Given the description of an element on the screen output the (x, y) to click on. 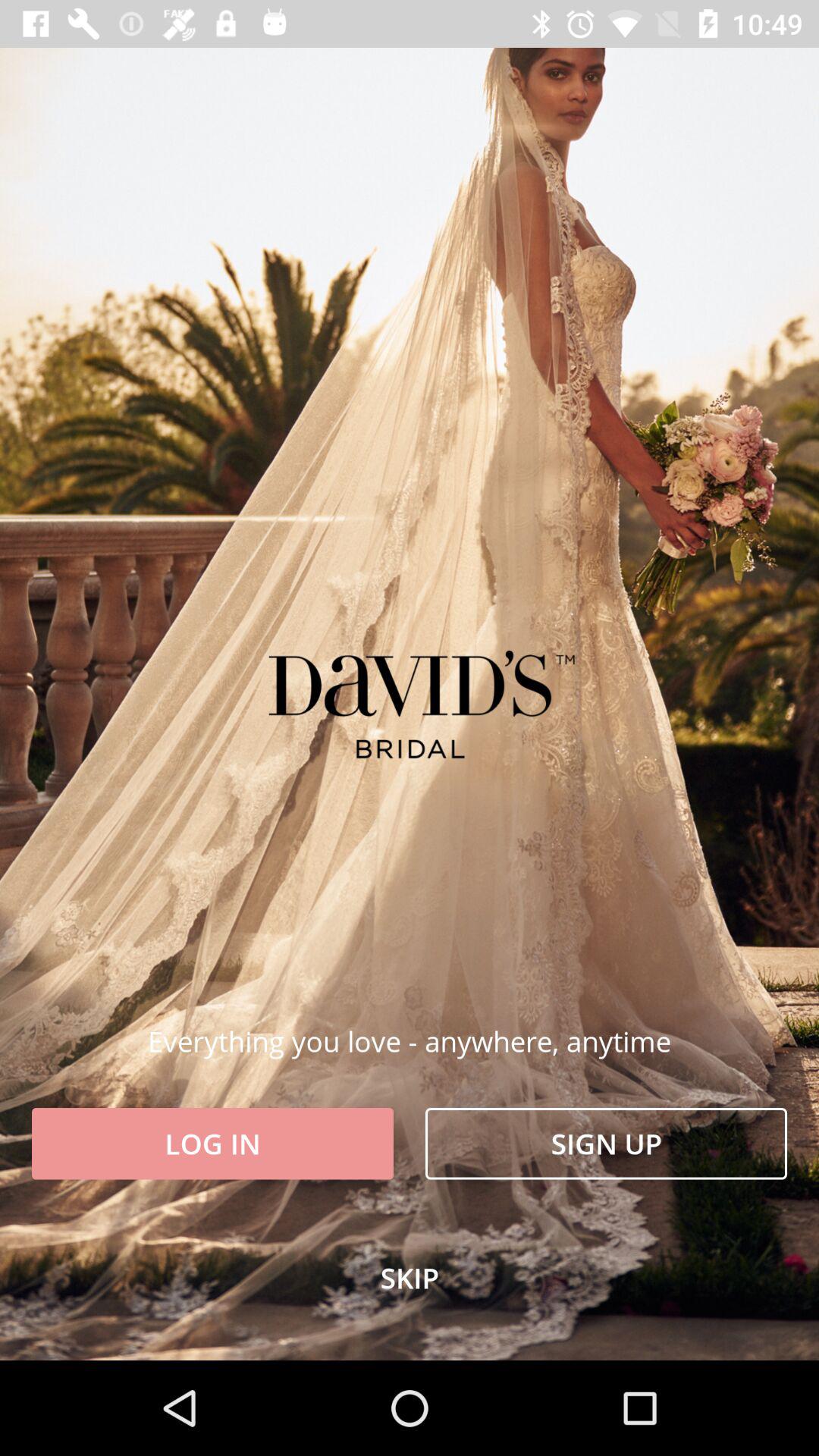
turn off the item below the everything you love item (212, 1143)
